Given the description of an element on the screen output the (x, y) to click on. 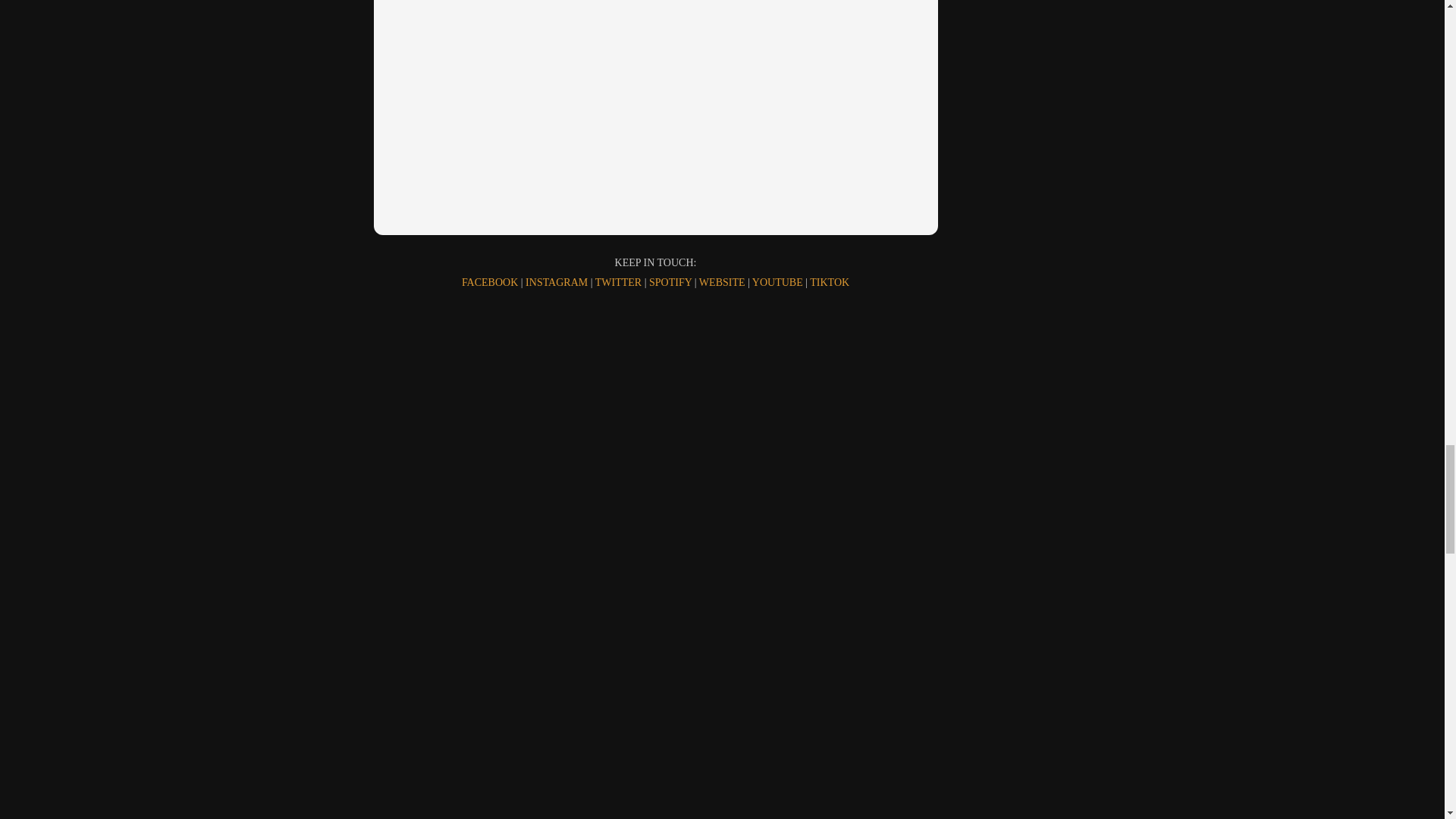
WEBSITE (723, 282)
INSTAGRAM (558, 282)
SPOTIFY (671, 282)
TWITTER (620, 282)
YOUTUBE (777, 282)
TIKTOK (828, 282)
Spotify Embed: Far from Home (654, 117)
FACEBOOK (491, 282)
